Given the description of an element on the screen output the (x, y) to click on. 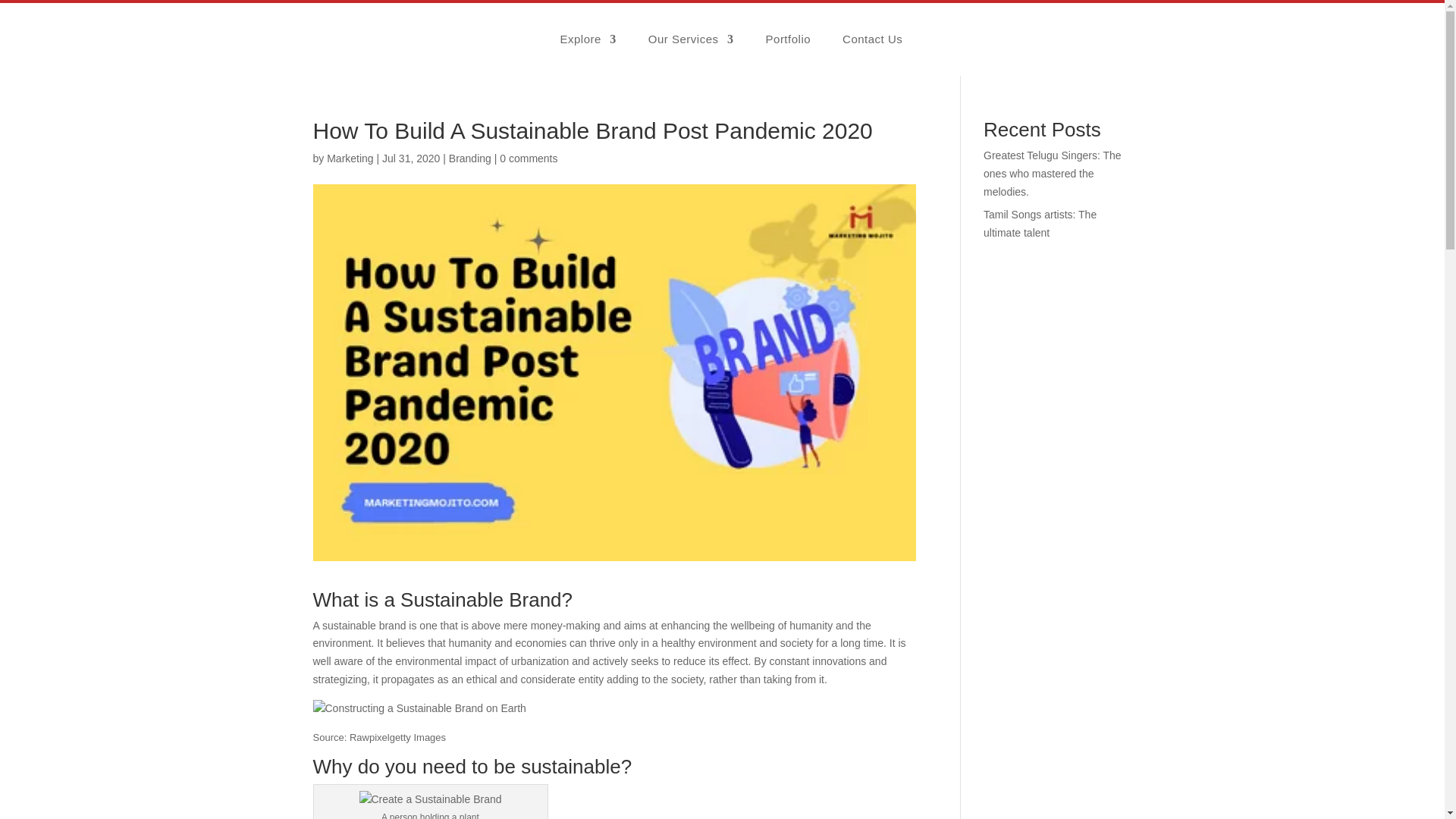
Our Services (690, 38)
Greatest Telugu Singers: The ones who mastered the melodies. (1052, 173)
Contact Us (872, 38)
Tamil Songs artists: The ultimate talent (1040, 223)
Explore (587, 38)
Marketing (349, 158)
0 comments (528, 158)
Posts by Marketing (349, 158)
Branding (470, 158)
